Given the description of an element on the screen output the (x, y) to click on. 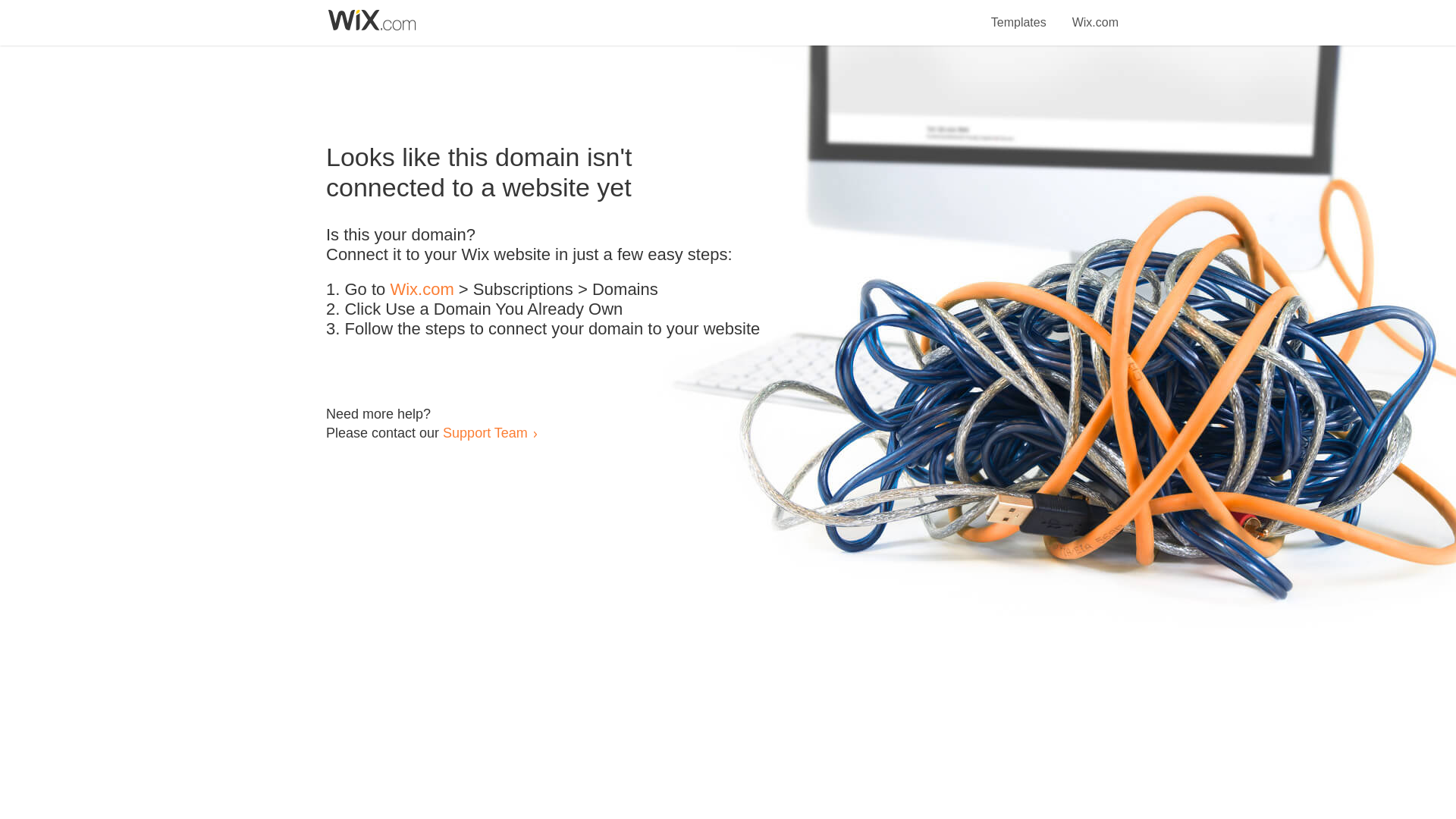
Wix.com (1095, 14)
Support Team (484, 432)
Wix.com (421, 289)
Templates (1018, 14)
